Given the description of an element on the screen output the (x, y) to click on. 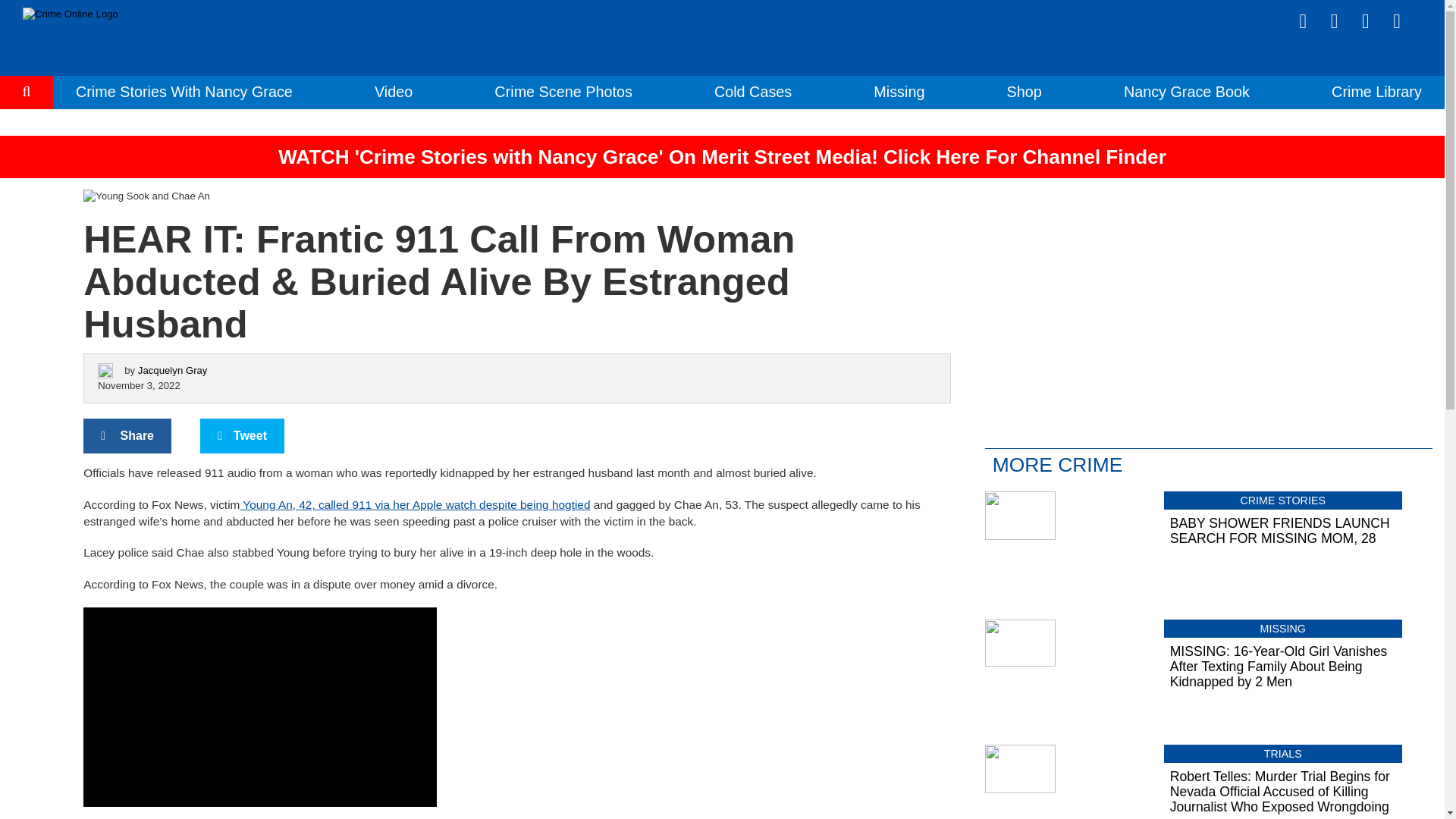
Share (126, 435)
November 3, 2022 (138, 385)
Search (27, 138)
Crime Library (1377, 91)
Shop (1024, 91)
Missing (898, 91)
Cold Cases (753, 91)
Crime Scene Photos (563, 91)
